Given the description of an element on the screen output the (x, y) to click on. 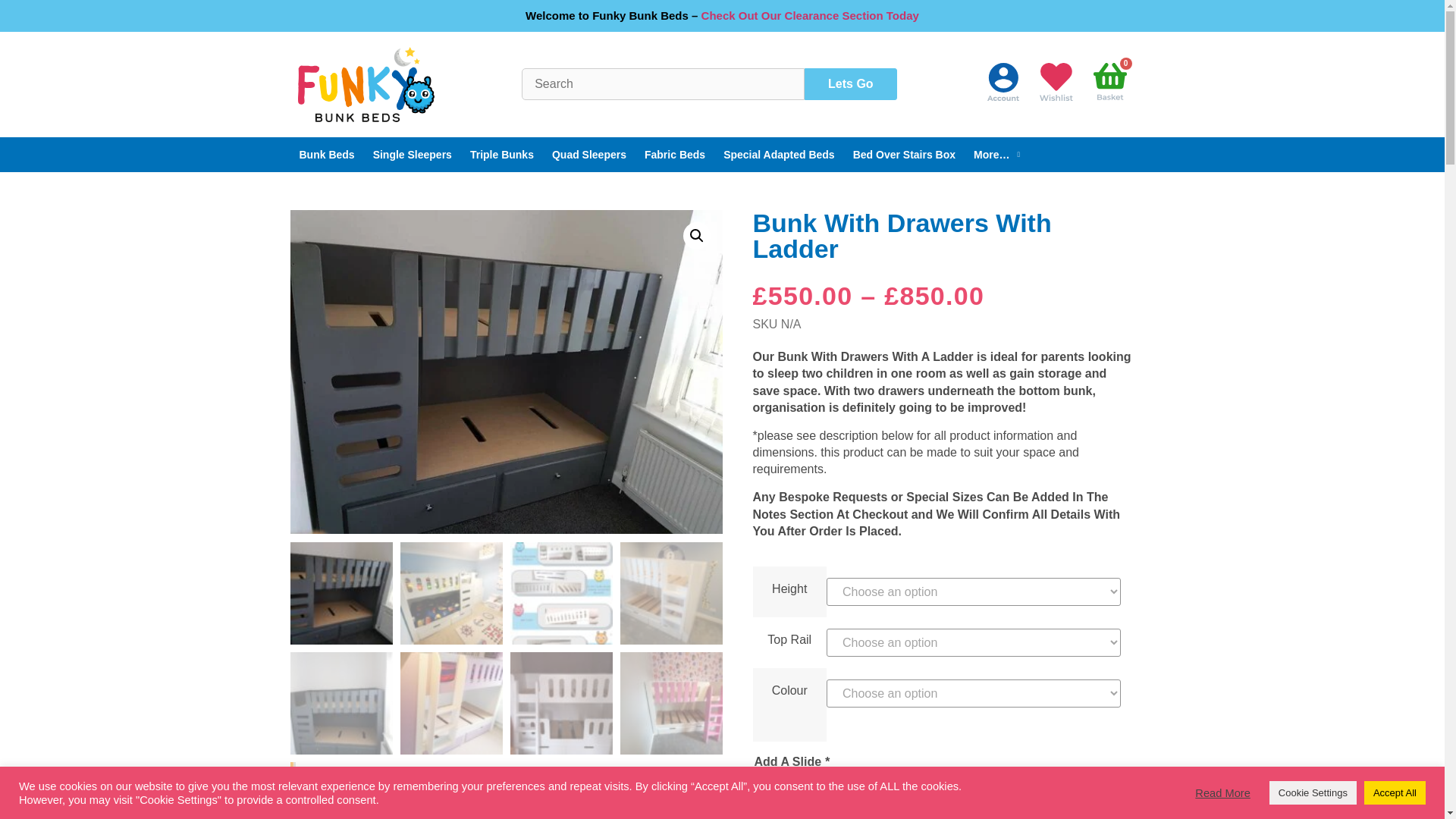
Quad Sleepers (588, 154)
Bunk Beds (325, 154)
Lets Go (850, 83)
0 (1109, 84)
Lets Go (850, 83)
Special Adapted Beds (779, 154)
Check Out Our Clearance Section Today (809, 15)
Fabric Beds (674, 154)
Bed Over Stairs Box (903, 154)
Required field (827, 761)
Single Sleepers (412, 154)
Triple Bunks (502, 154)
